Given the description of an element on the screen output the (x, y) to click on. 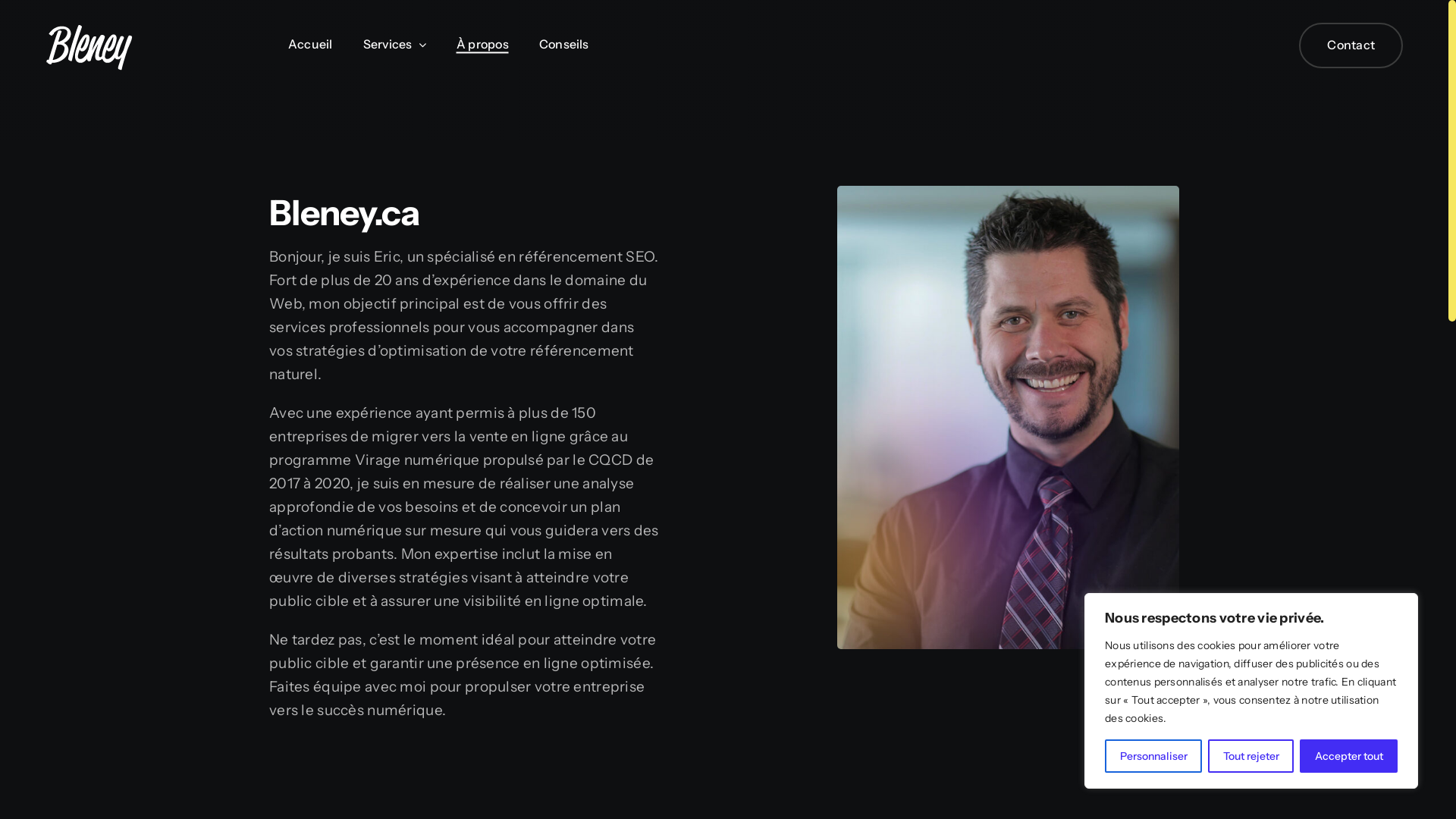
Conseils Element type: text (564, 45)
Services Element type: text (394, 45)
Tout rejeter Element type: text (1250, 755)
Personnaliser Element type: text (1152, 755)
Accueil Element type: text (310, 45)
Contact Element type: text (1350, 44)
Bleney.ca Element type: hover (1008, 417)
Accepter tout Element type: text (1348, 755)
